Given the description of an element on the screen output the (x, y) to click on. 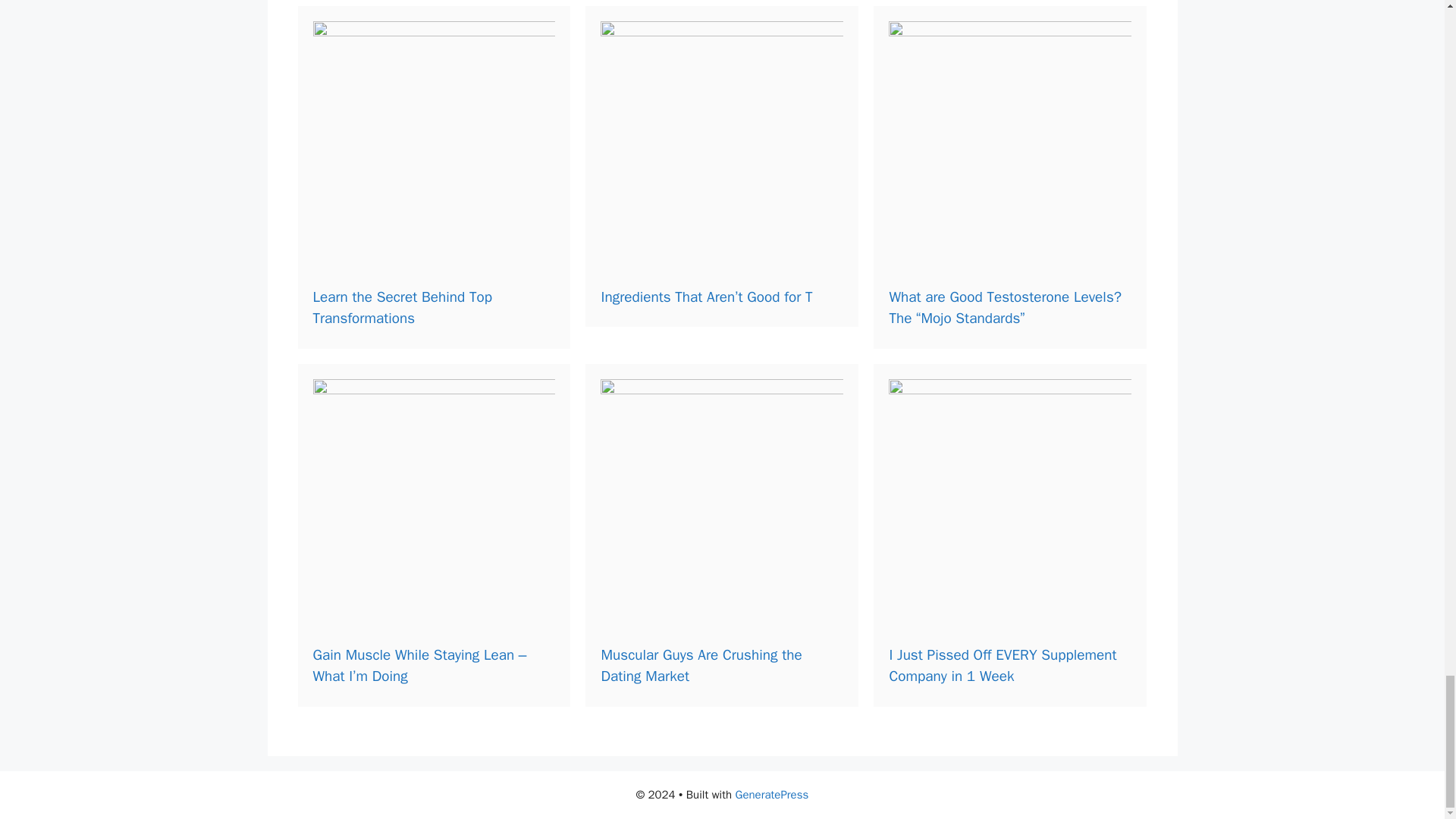
Learn the Secret Behind Top Transformations (402, 308)
GeneratePress (772, 794)
I Just Pissed Off EVERY Supplement Company in 1 Week (1002, 665)
Muscular Guys Are Crushing the Dating Market (700, 665)
